Given the description of an element on the screen output the (x, y) to click on. 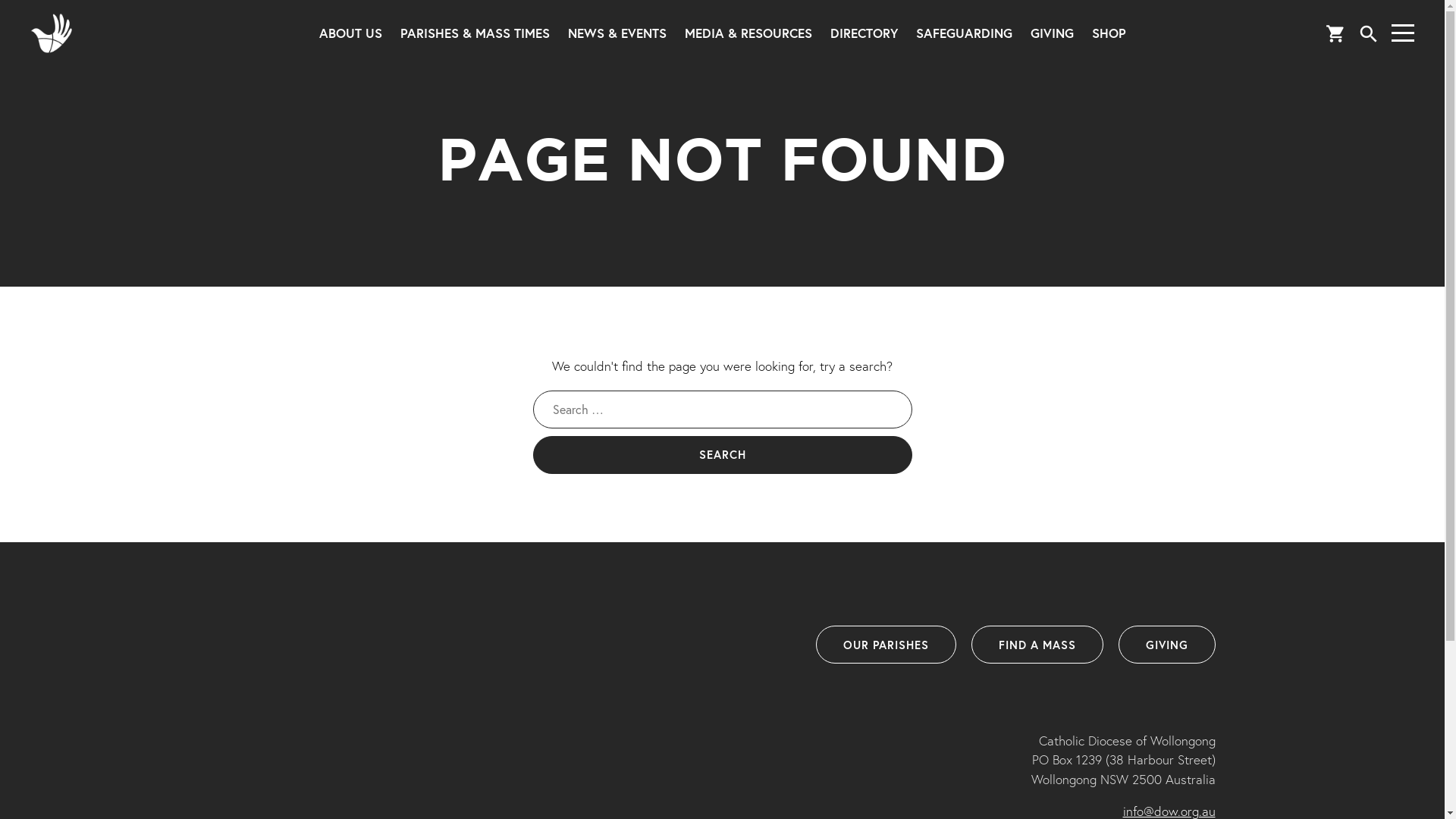
GO Element type: text (759, 46)
NEWS & EVENTS Element type: text (616, 32)
ABOUT US Element type: text (349, 32)
Search Element type: text (721, 454)
FIND A MASS Element type: text (1036, 644)
shopping_cart Element type: text (1335, 33)
GIVING Element type: text (1051, 32)
search Element type: text (1368, 33)
DIRECTORY Element type: text (863, 32)
MEDIA & RESOURCES Element type: text (747, 32)
OUR PARISHES Element type: text (885, 644)
SHOP Element type: text (1109, 32)
GIVING Element type: text (1165, 644)
SAFEGUARDING Element type: text (964, 32)
PARISHES & MASS TIMES Element type: text (474, 32)
